Given the description of an element on the screen output the (x, y) to click on. 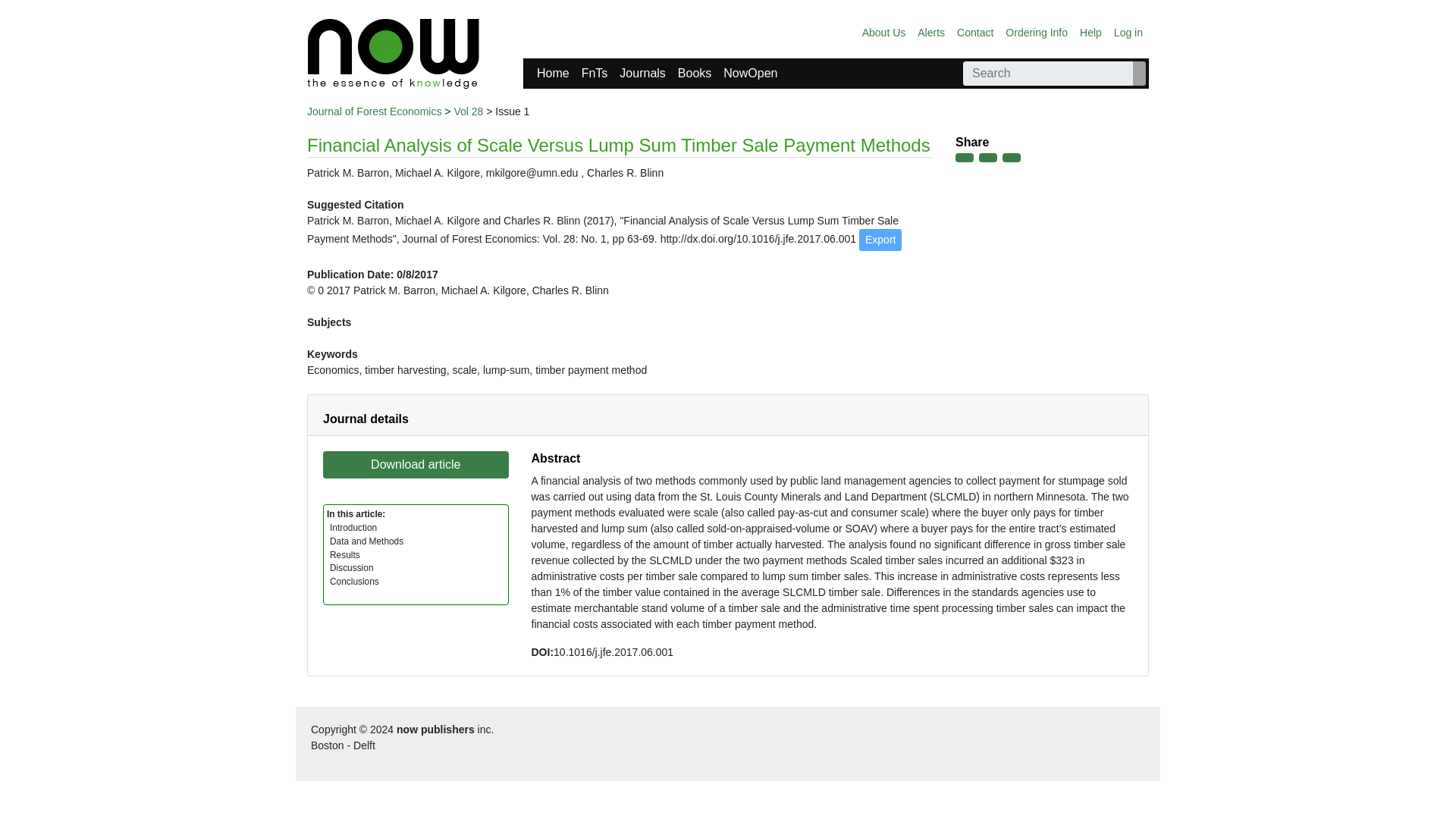
NowOpen (750, 73)
Export (880, 239)
FnTs (594, 73)
Contact (974, 32)
About Us (884, 32)
Alerts (930, 32)
Ordering Info (1036, 32)
Journal details (366, 418)
Twitter (987, 157)
Journal of Forest Economics (374, 111)
